Given the description of an element on the screen output the (x, y) to click on. 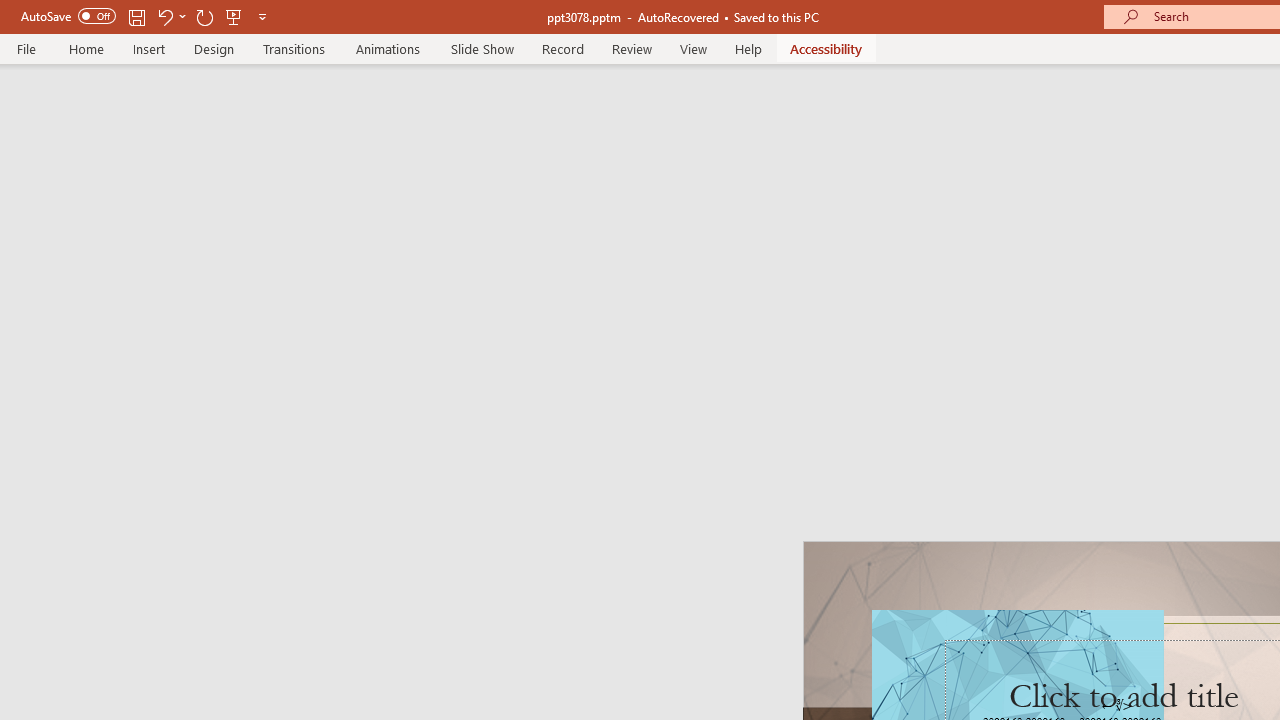
AutoSave (68, 16)
Transitions (294, 48)
View (693, 48)
Customize Quick Access Toolbar (262, 15)
Help (748, 48)
From Beginning (234, 15)
Insert (149, 48)
Design (214, 48)
Review (631, 48)
Home (86, 48)
